Given the description of an element on the screen output the (x, y) to click on. 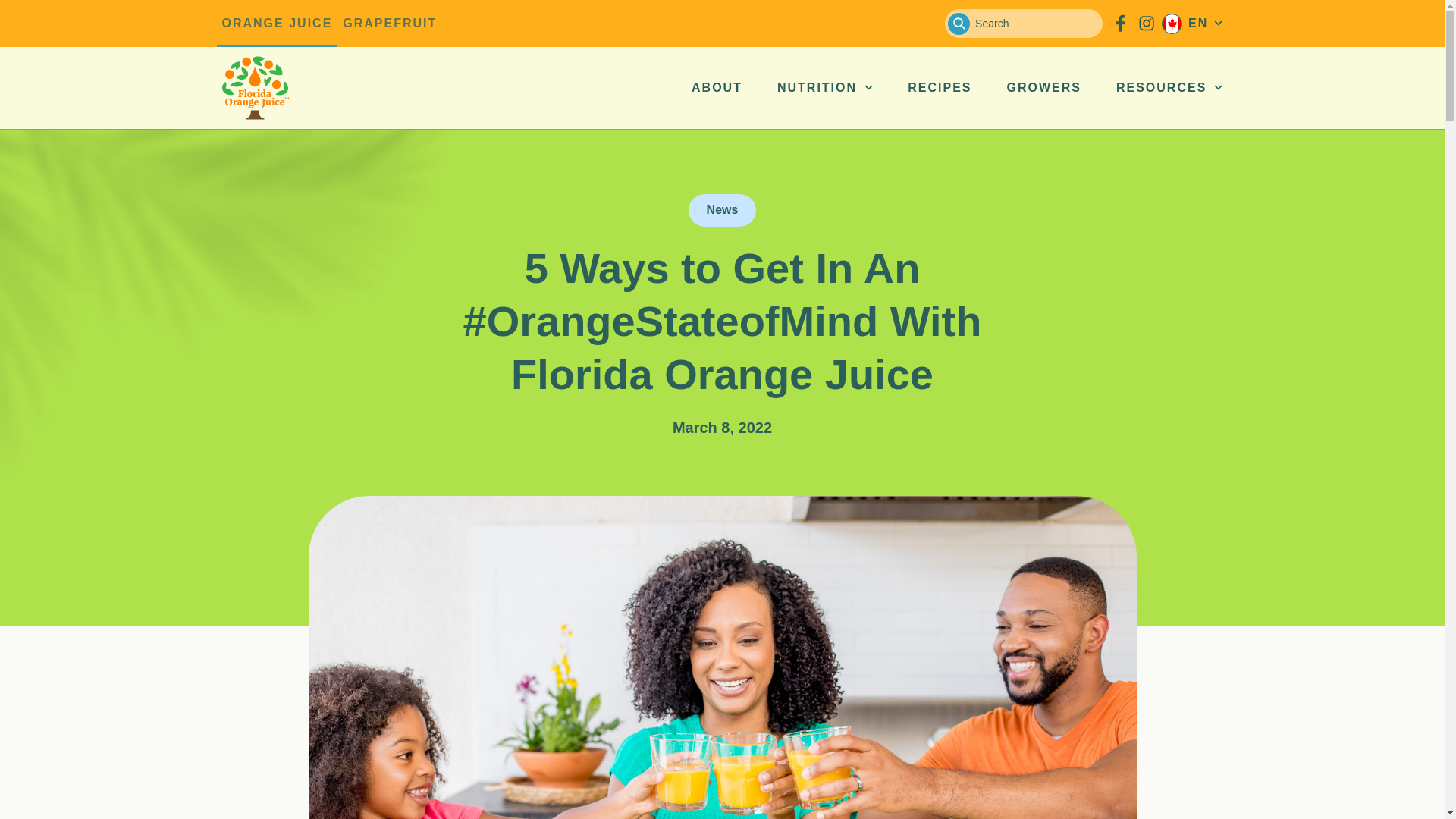
GRAPEFRUIT (389, 23)
GROWERS (1044, 87)
RESOURCES (1169, 87)
EN (1192, 23)
RECIPES (939, 87)
NUTRITION (824, 87)
ORANGE JUICE (276, 23)
ABOUT (716, 87)
